Given the description of an element on the screen output the (x, y) to click on. 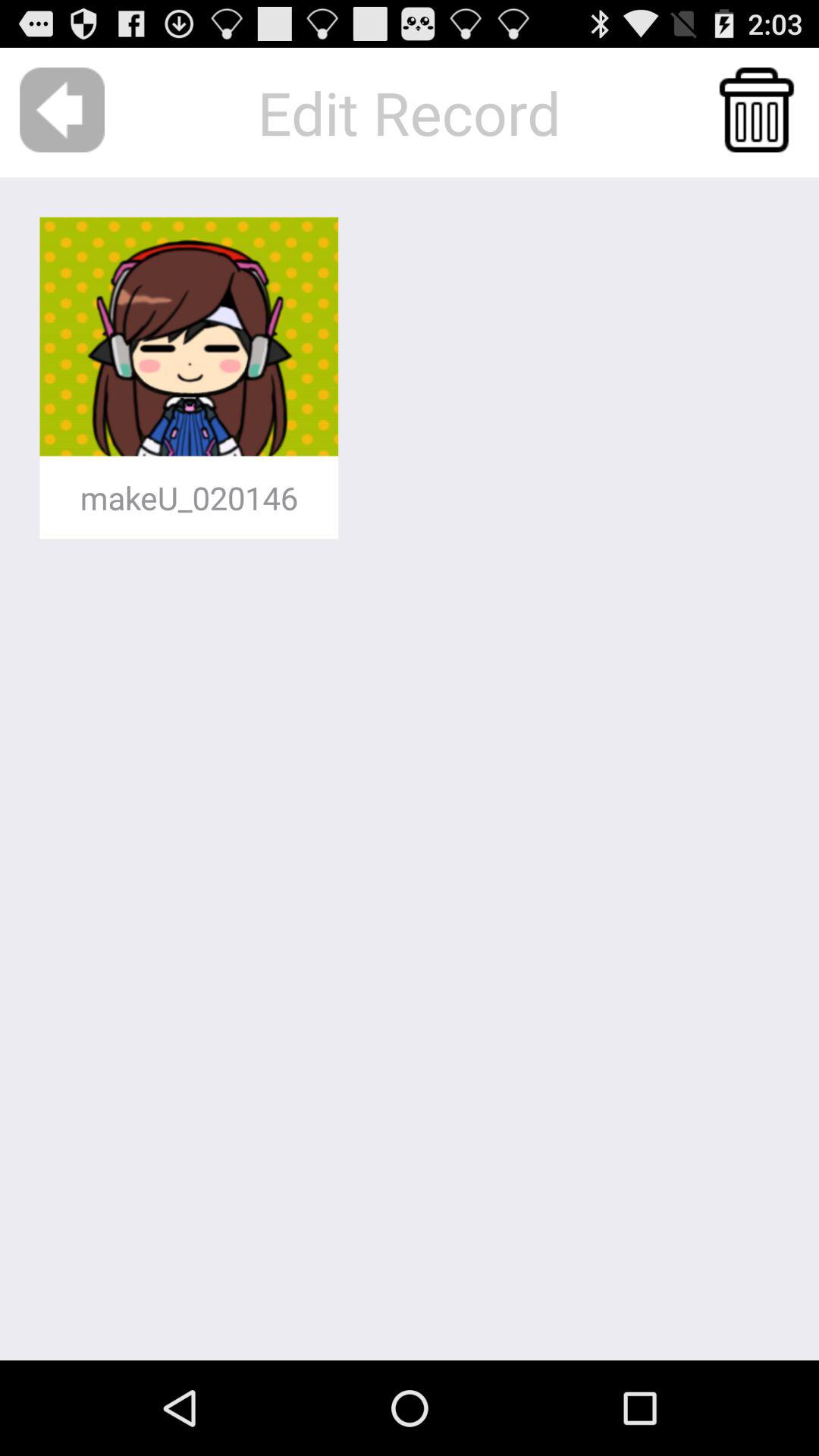
tap the item next to edit record icon (61, 109)
